Given the description of an element on the screen output the (x, y) to click on. 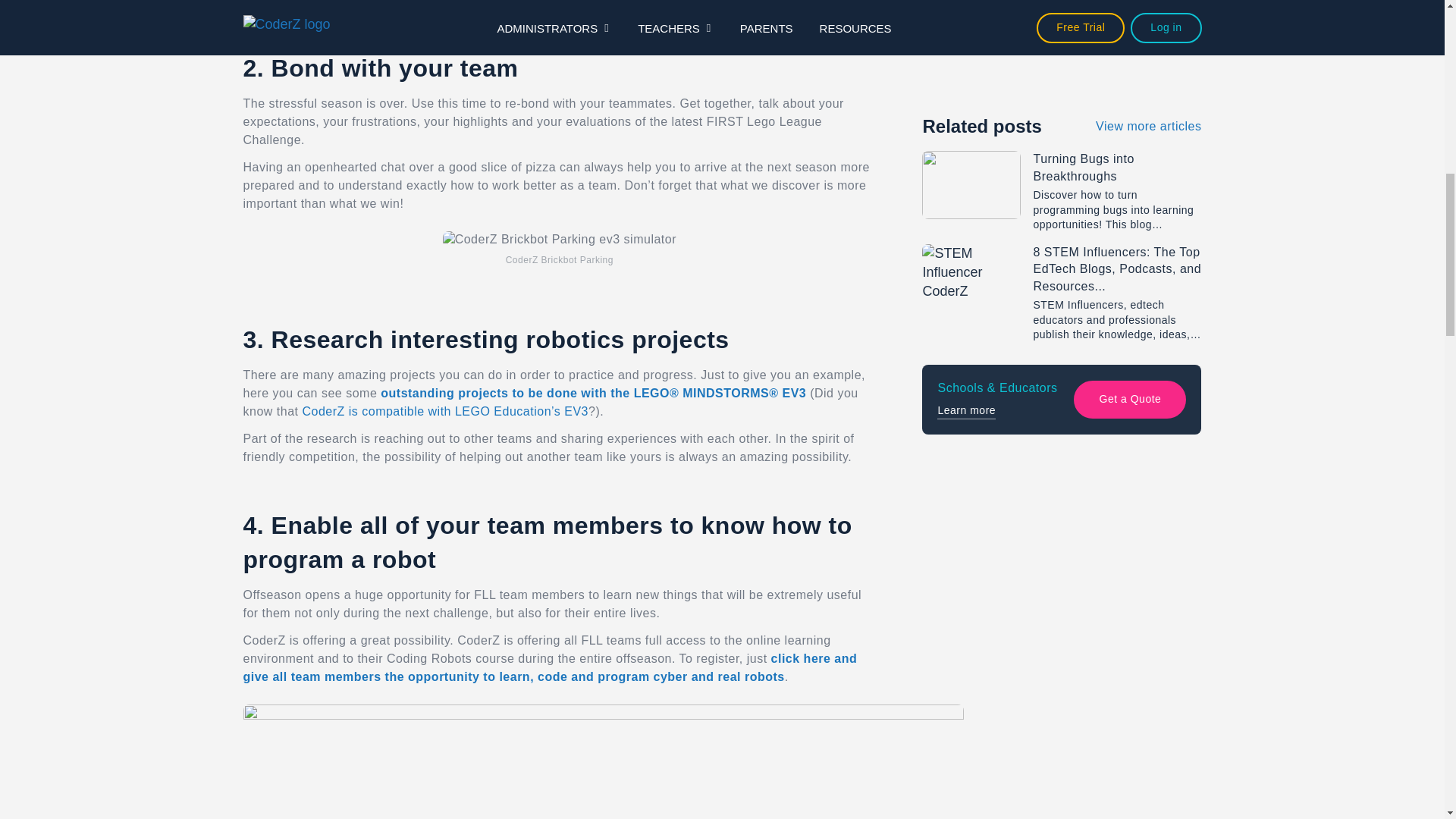
3. Research interesting robotics projects (559, 336)
2. Bond with your team (559, 65)
